Given the description of an element on the screen output the (x, y) to click on. 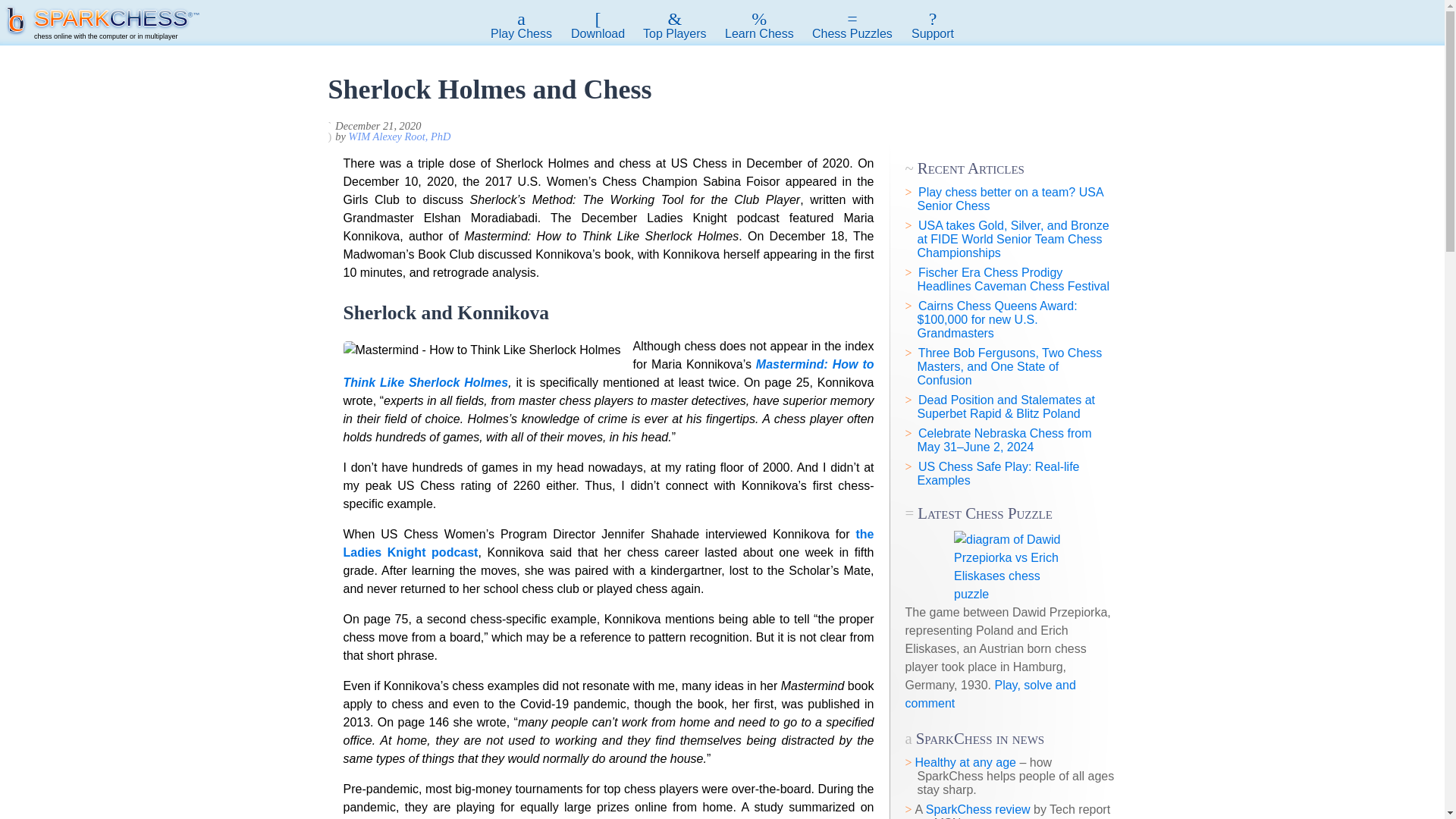
Download (597, 26)
Chess Puzzles (852, 26)
Support (932, 26)
See the SparkChess Multiplayer Chess Grandmasters (674, 26)
Solve famous chess puzzles (852, 26)
Top Players (674, 26)
Fischer Era Chess Prodigy Headlines Caveman Chess Festival (1013, 279)
Read more chess articles, resources and links (759, 26)
